Given the description of an element on the screen output the (x, y) to click on. 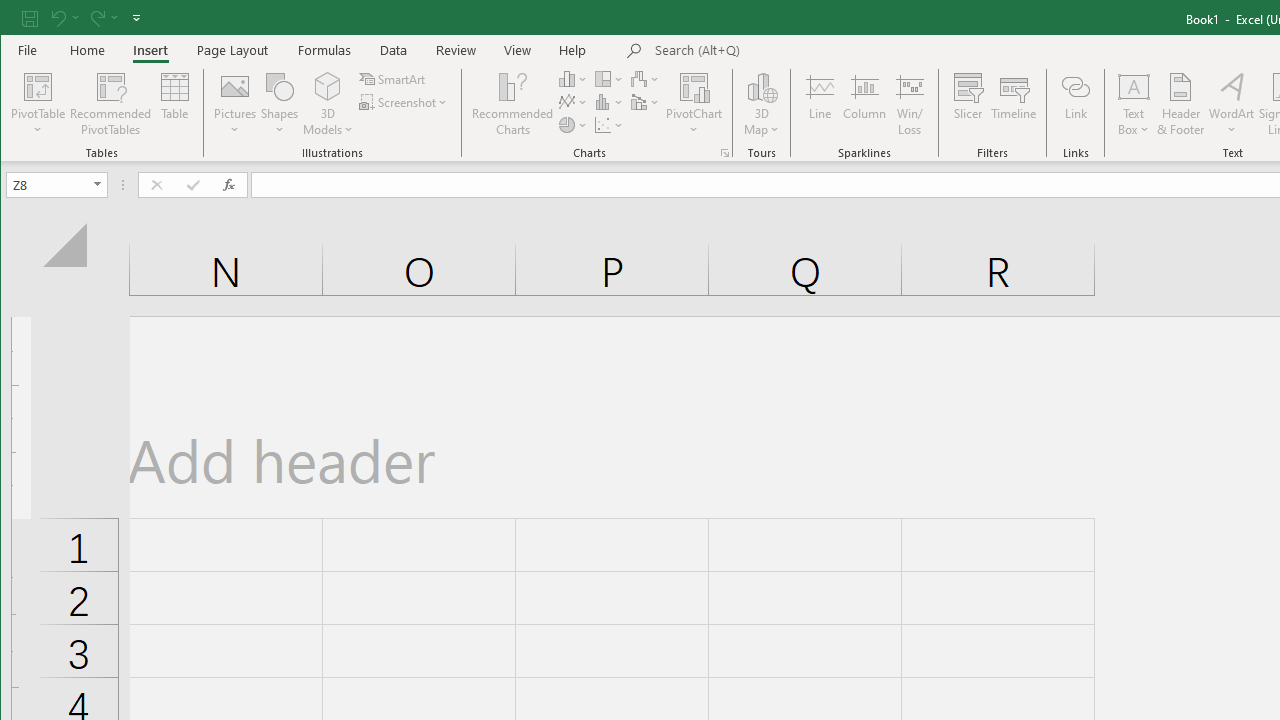
WordArt (1231, 104)
PivotTable (37, 104)
Insert Waterfall, Funnel, Stock, Surface, or Radar Chart (646, 78)
Insert Combo Chart (646, 101)
3D Models (327, 104)
Insert Scatter (X, Y) or Bubble Chart (609, 124)
Header & Footer... (1180, 104)
3D Map (762, 104)
